Given the description of an element on the screen output the (x, y) to click on. 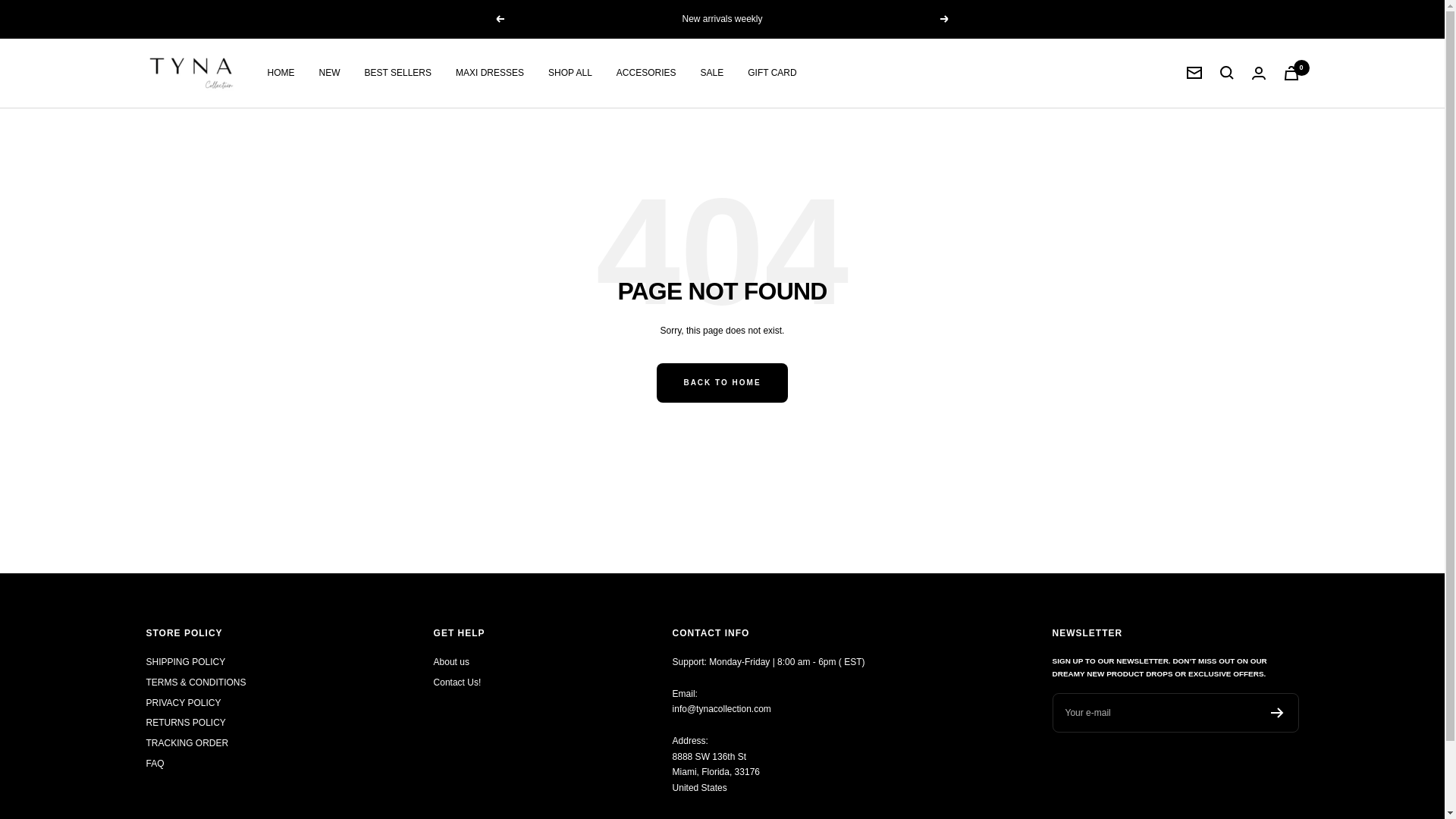
NEW (328, 73)
SHIPPING POLICY (185, 662)
PRIVACY POLICY (183, 702)
Register (1277, 712)
SALE (711, 73)
AO (245, 610)
SHOP ALL (570, 73)
Previous (499, 18)
HOME (280, 73)
AD (245, 593)
